Given the description of an element on the screen output the (x, y) to click on. 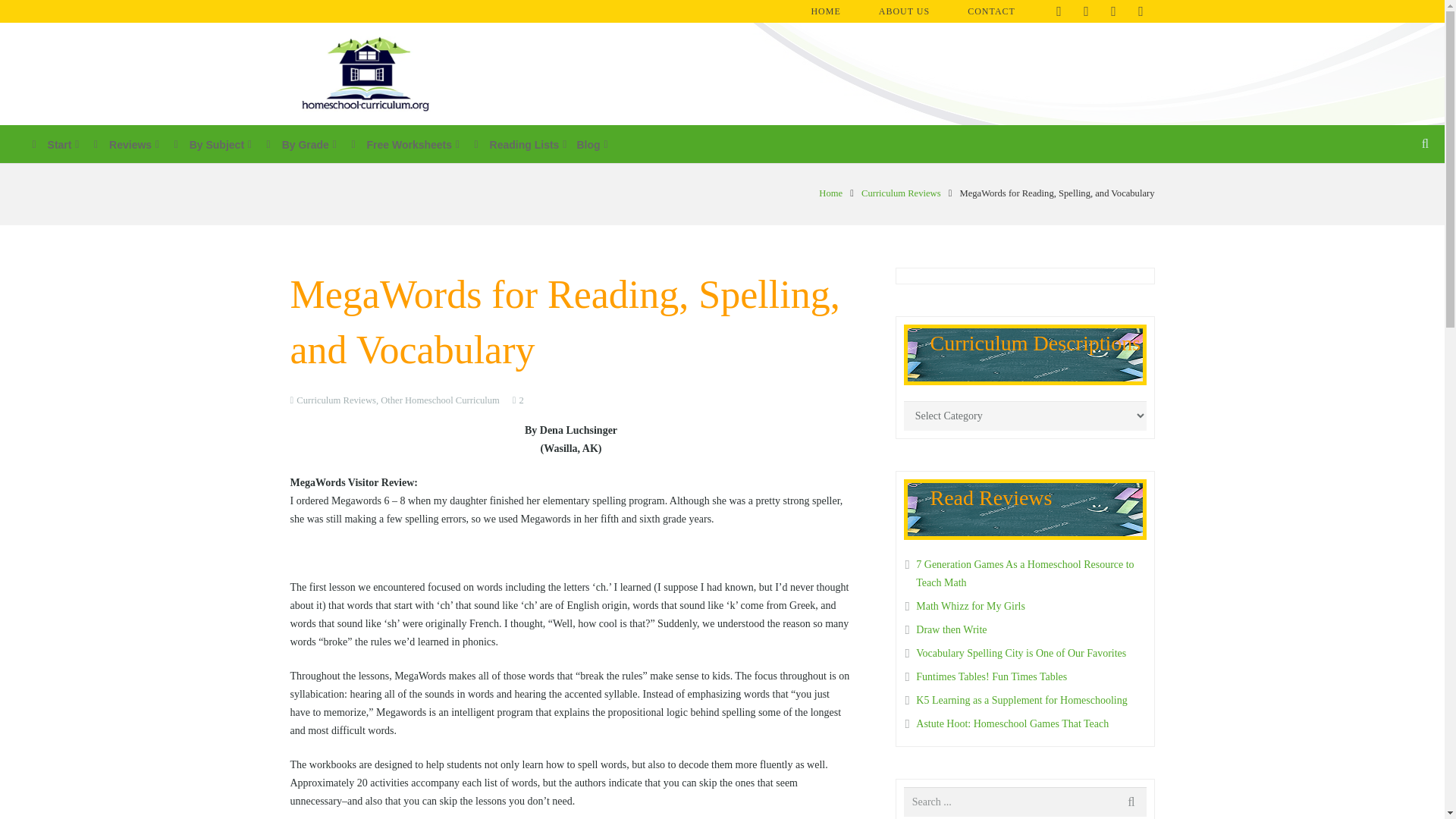
Start (46, 143)
ABOUT US (911, 10)
HOME (832, 10)
CONTACT (999, 10)
